Given the description of an element on the screen output the (x, y) to click on. 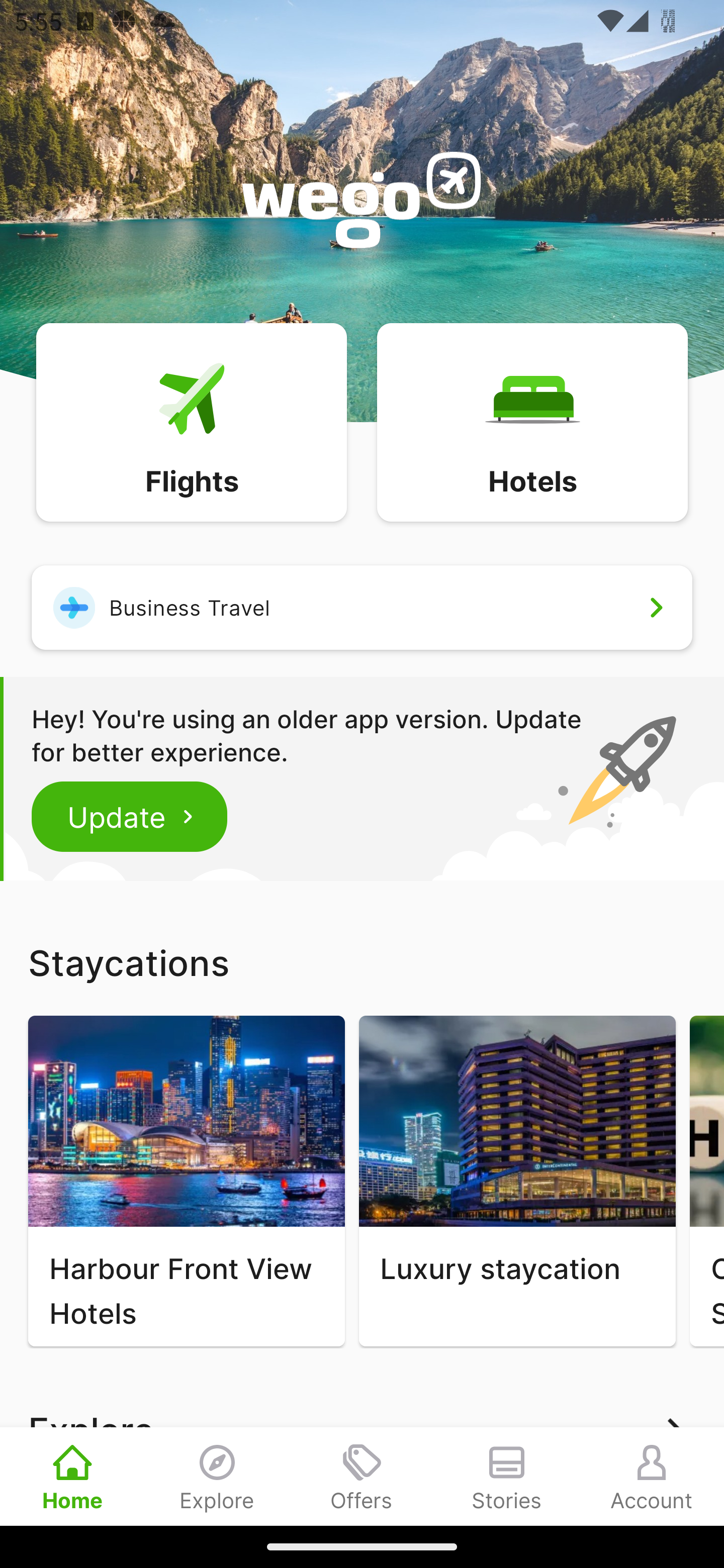
Flights (191, 420)
Hotels (532, 420)
Business Travel (361, 607)
Update (129, 815)
Staycations (362, 962)
Harbour Front View Hotels (186, 1181)
Luxury staycation (517, 1181)
Explore (216, 1475)
Offers (361, 1475)
Stories (506, 1475)
Account (651, 1475)
